Given the description of an element on the screen output the (x, y) to click on. 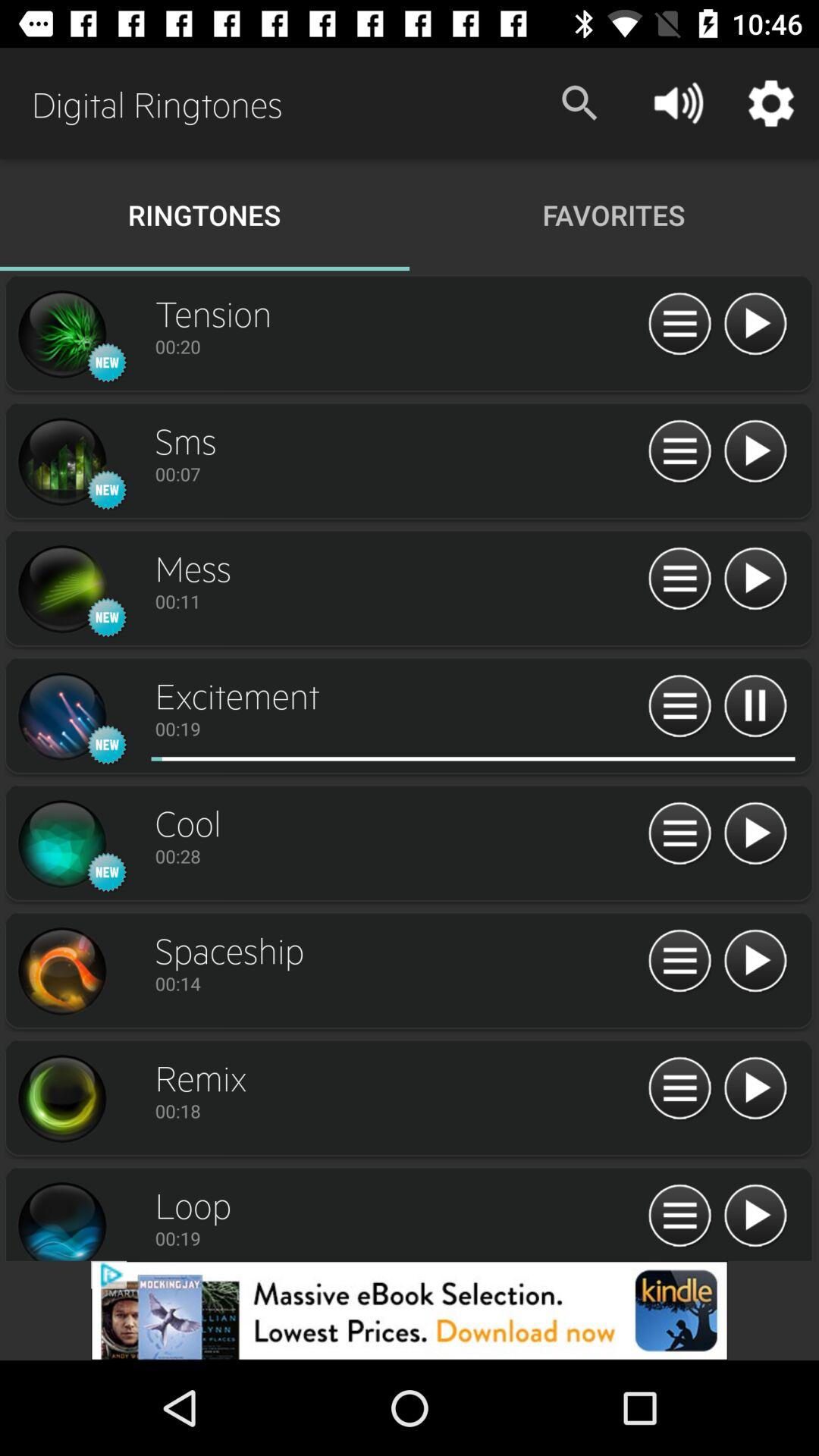
play button for ringtone loop (755, 1216)
